Given the description of an element on the screen output the (x, y) to click on. 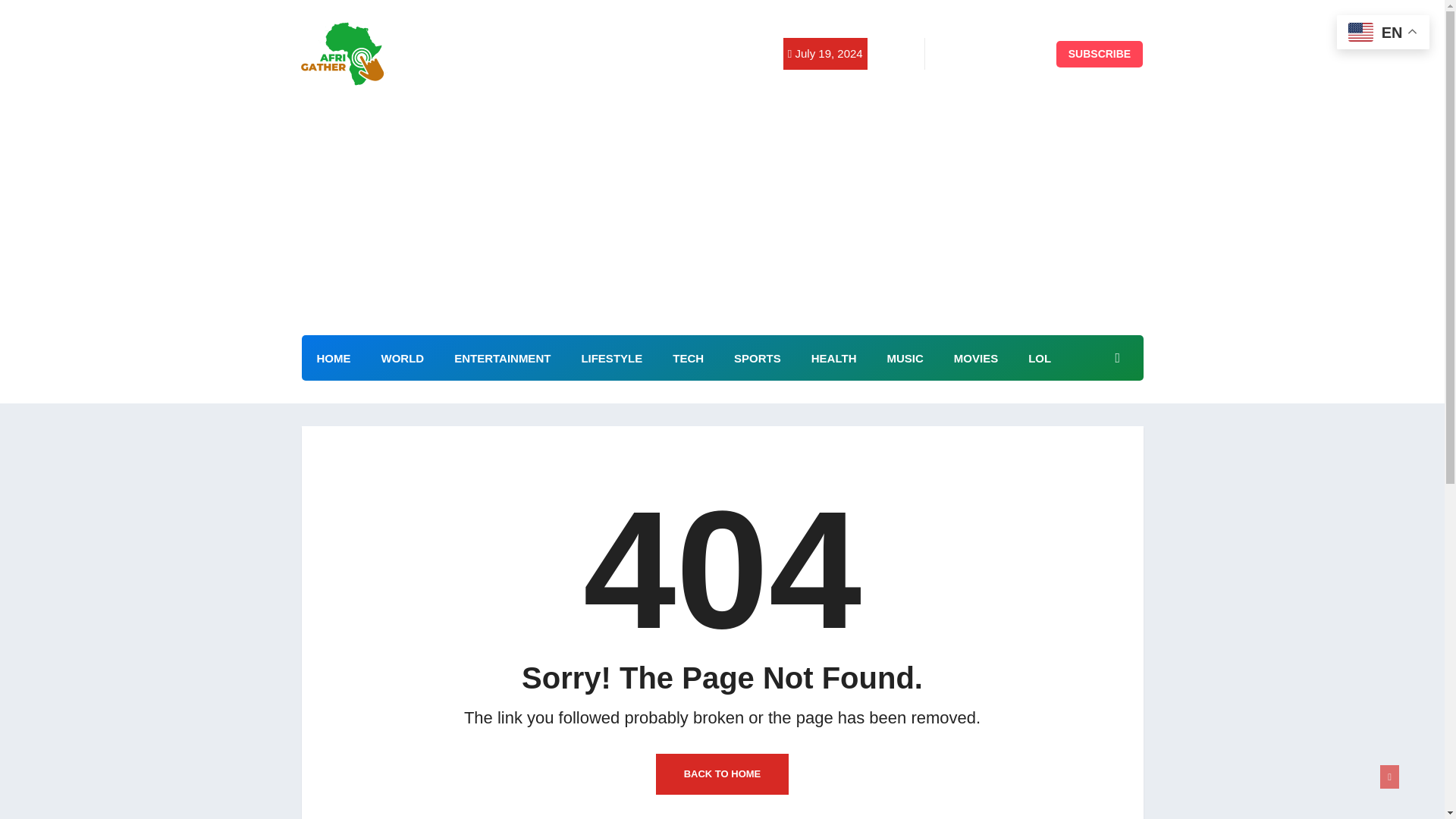
SPORTS (757, 357)
BACK TO HOME (722, 773)
TECH (688, 357)
LOL (1039, 357)
HEALTH (834, 357)
SUBSCRIBE (1099, 53)
HOME (333, 357)
WORLD (402, 357)
MUSIC (903, 357)
ENTERTAINMENT (502, 357)
MOVIES (976, 357)
LIFESTYLE (612, 357)
